Given the description of an element on the screen output the (x, y) to click on. 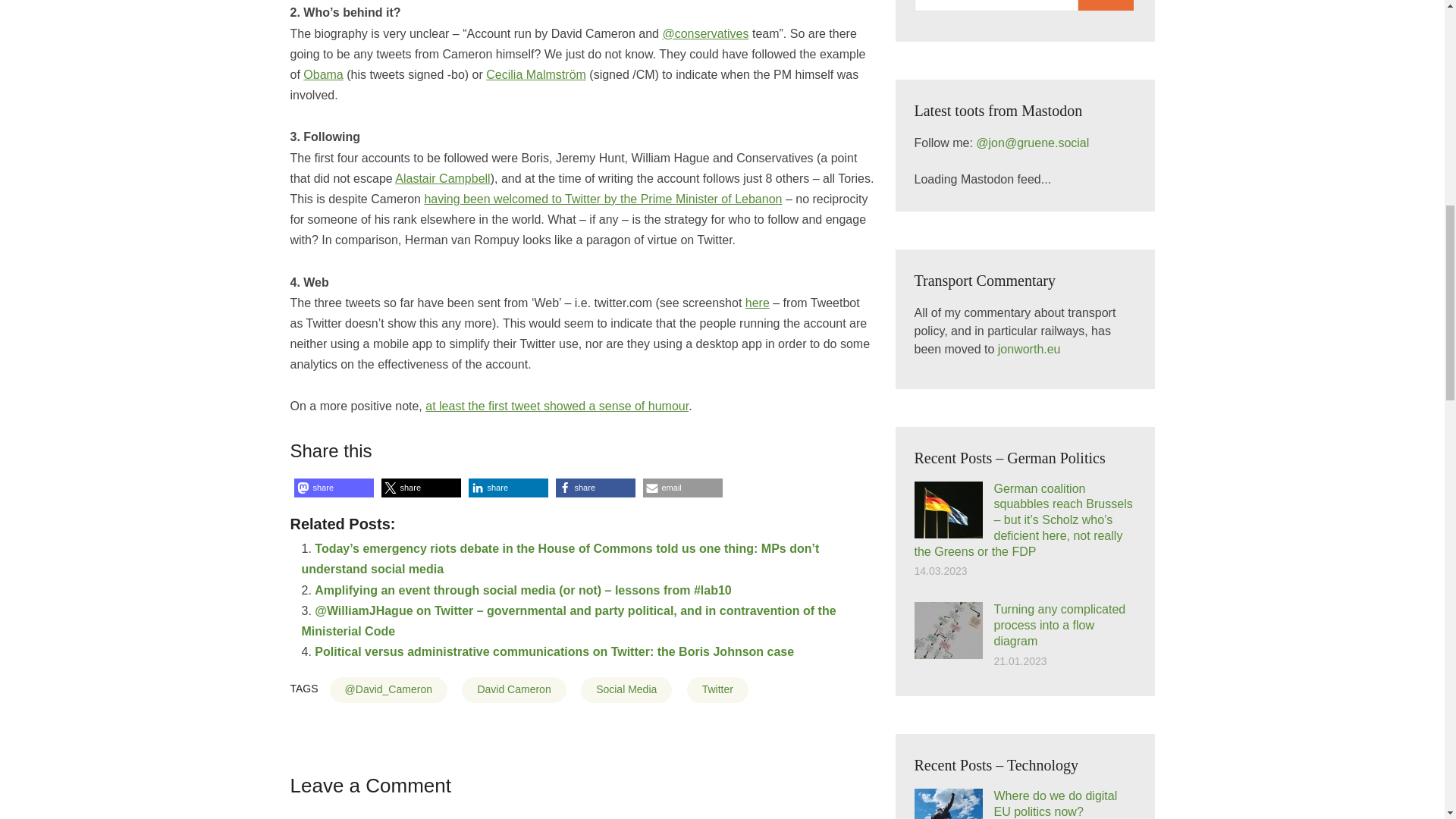
Share on Mastodon (334, 487)
Share on LinkedIn (508, 487)
Share on X (420, 487)
Share on Facebook (594, 487)
Submit (1106, 5)
Send by email (682, 487)
